Given the description of an element on the screen output the (x, y) to click on. 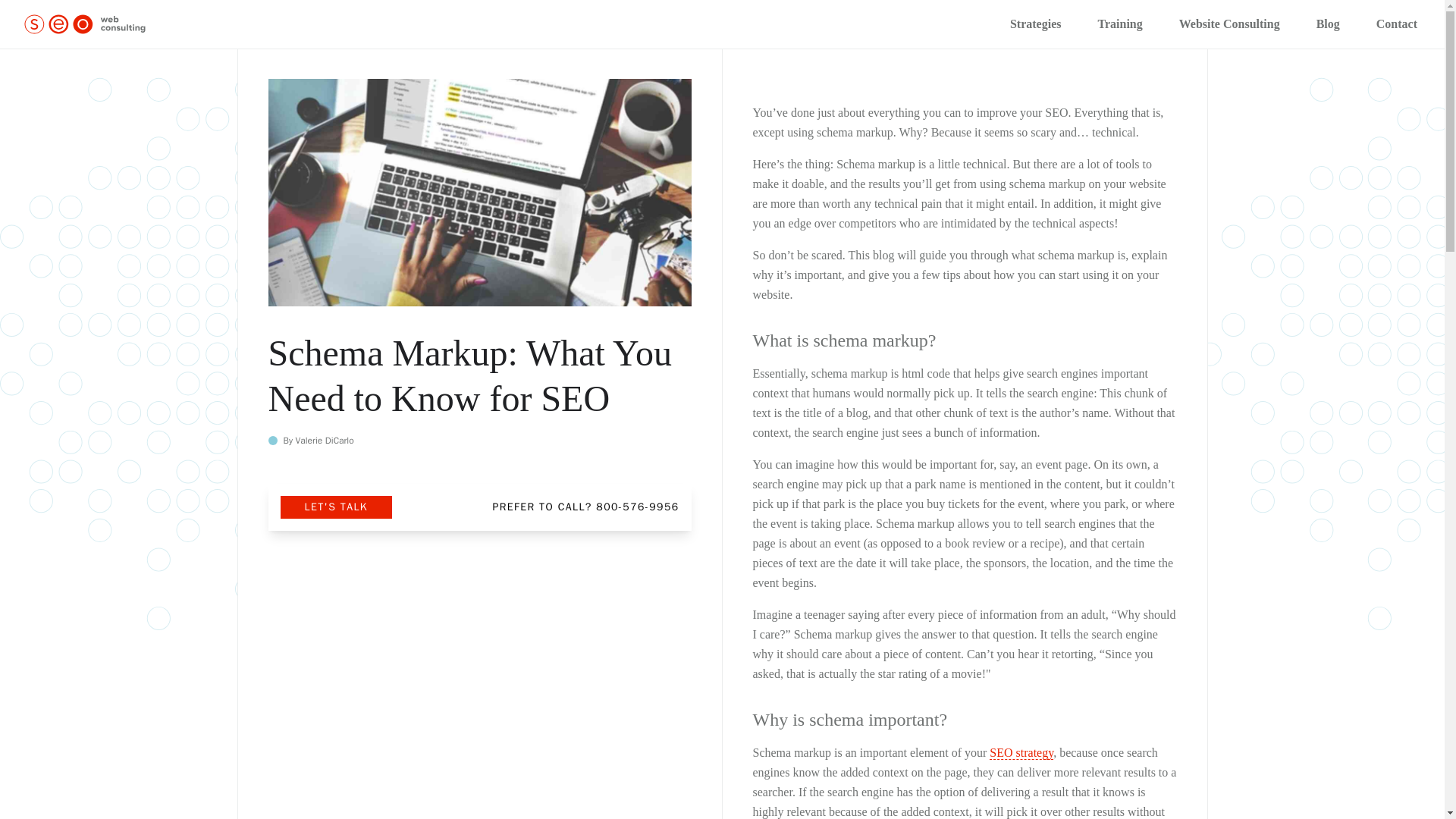
LET'S TALK (336, 507)
Website Consulting (1229, 24)
800-576-9956 (636, 506)
SEO strategy (1021, 753)
Strategies (1035, 24)
Contact (1397, 24)
Training (1119, 24)
